Given the description of an element on the screen output the (x, y) to click on. 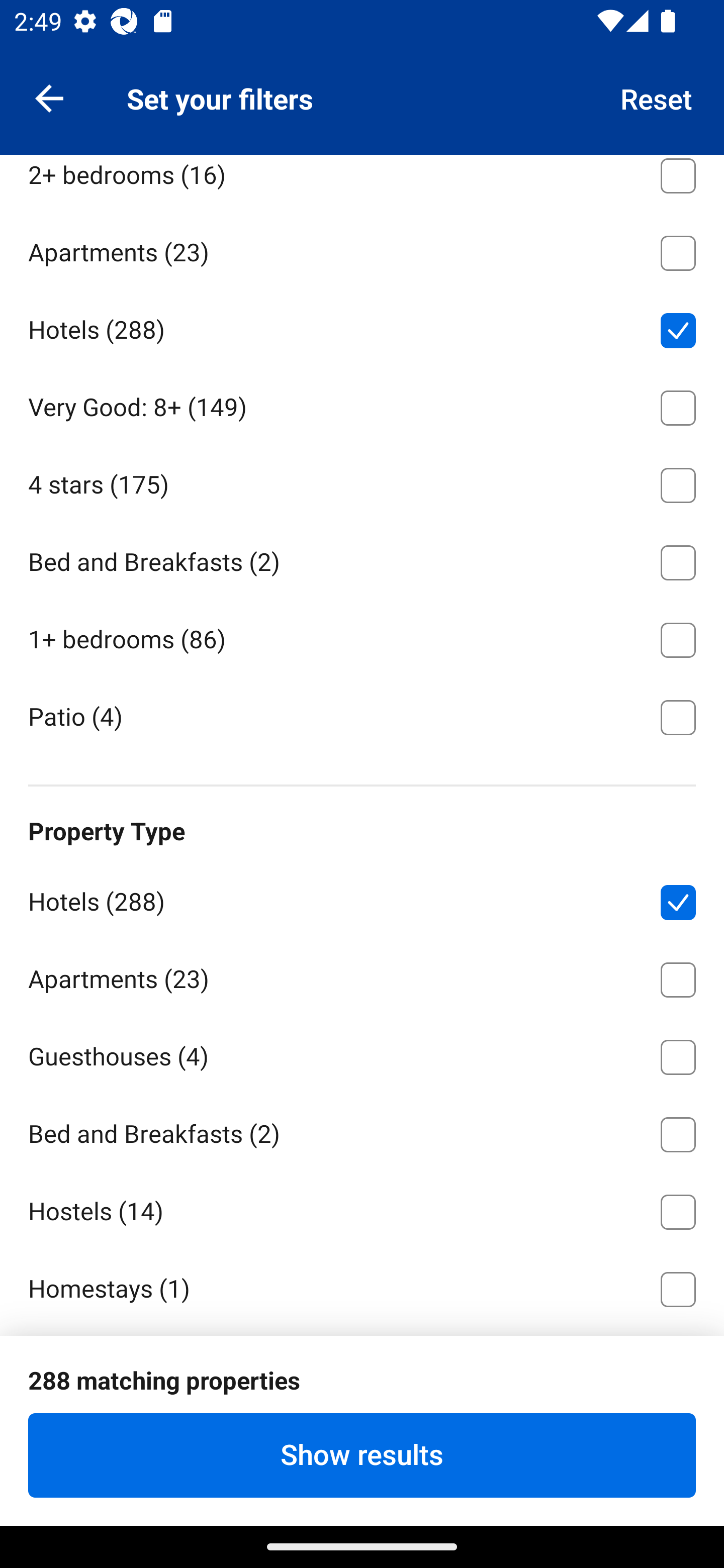
Navigate up (49, 97)
Reset (656, 97)
2+ bedrooms ⁦(16) (361, 183)
Apartments ⁦(23) (361, 249)
Hotels ⁦(288) (361, 326)
Very Good: 8+ ⁦(149) (361, 404)
4 stars ⁦(175) (361, 481)
Bed and Breakfasts ⁦(2) (361, 558)
1+ bedrooms ⁦(86) (361, 636)
Patio ⁦(4) (361, 715)
Hotels ⁦(288) (361, 898)
Apartments ⁦(23) (361, 975)
Guesthouses ⁦(4) (361, 1053)
Bed and Breakfasts ⁦(2) (361, 1130)
Hostels ⁦(14) (361, 1208)
Homestays ⁦(1) (361, 1288)
Show results (361, 1454)
